Given the description of an element on the screen output the (x, y) to click on. 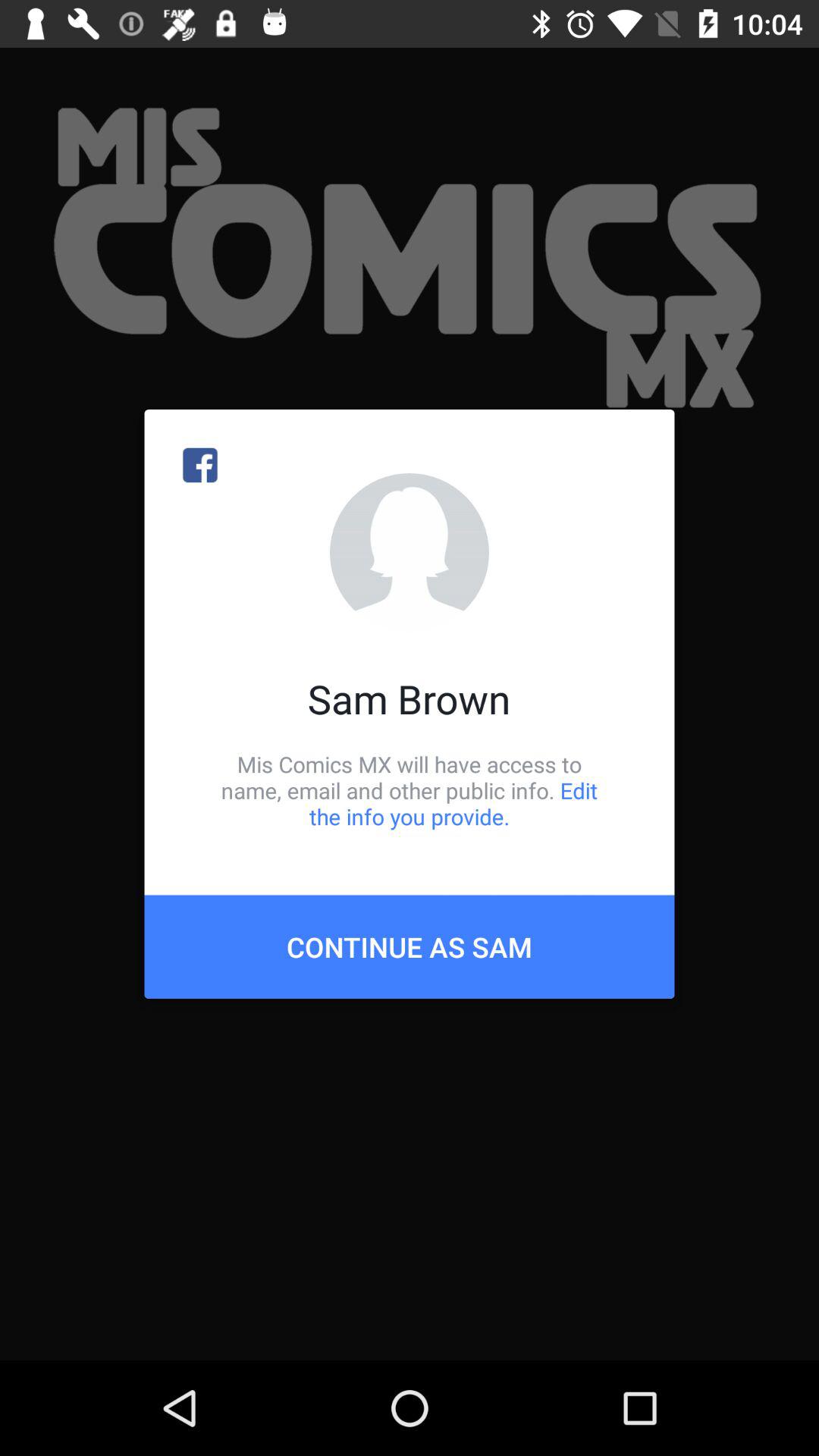
flip until mis comics mx icon (409, 790)
